Given the description of an element on the screen output the (x, y) to click on. 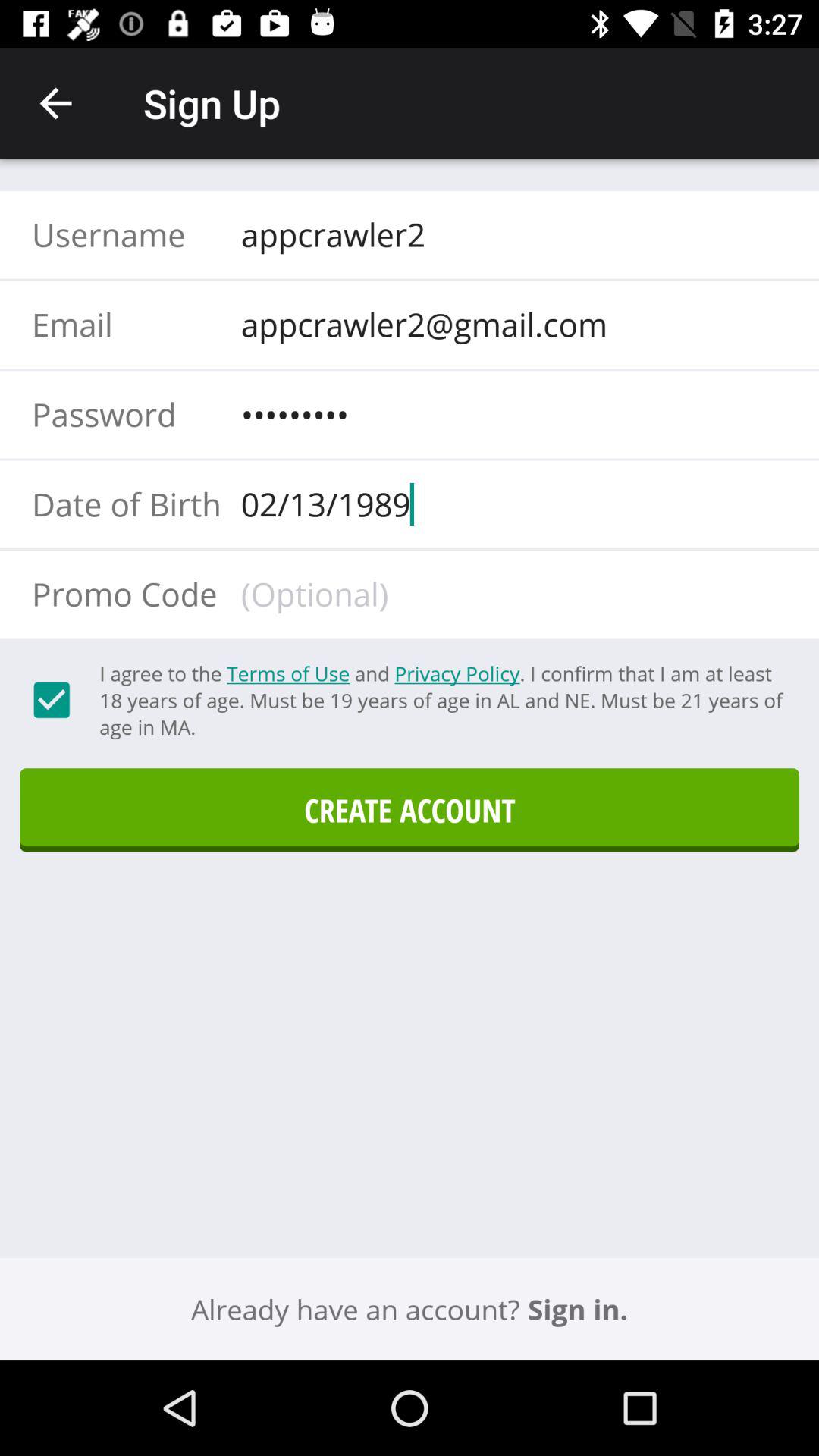
press appcrawler2@gmail.com icon (508, 324)
